Given the description of an element on the screen output the (x, y) to click on. 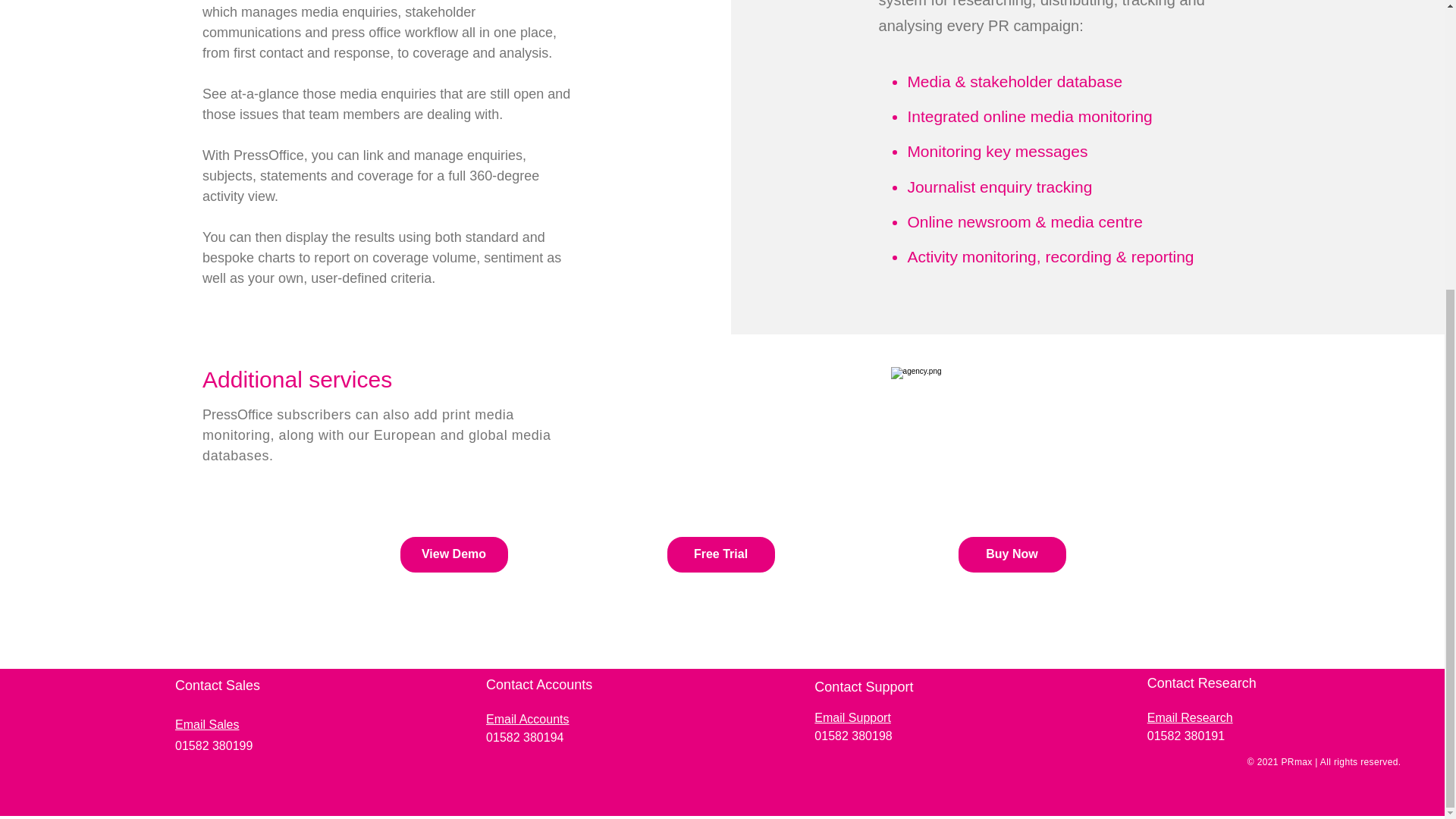
Email Research (1190, 717)
Buy Now (1011, 554)
Free Trial (720, 554)
View Demo (454, 554)
Email Support (852, 717)
Email Sales (206, 724)
Email Accounts (527, 718)
